Given the description of an element on the screen output the (x, y) to click on. 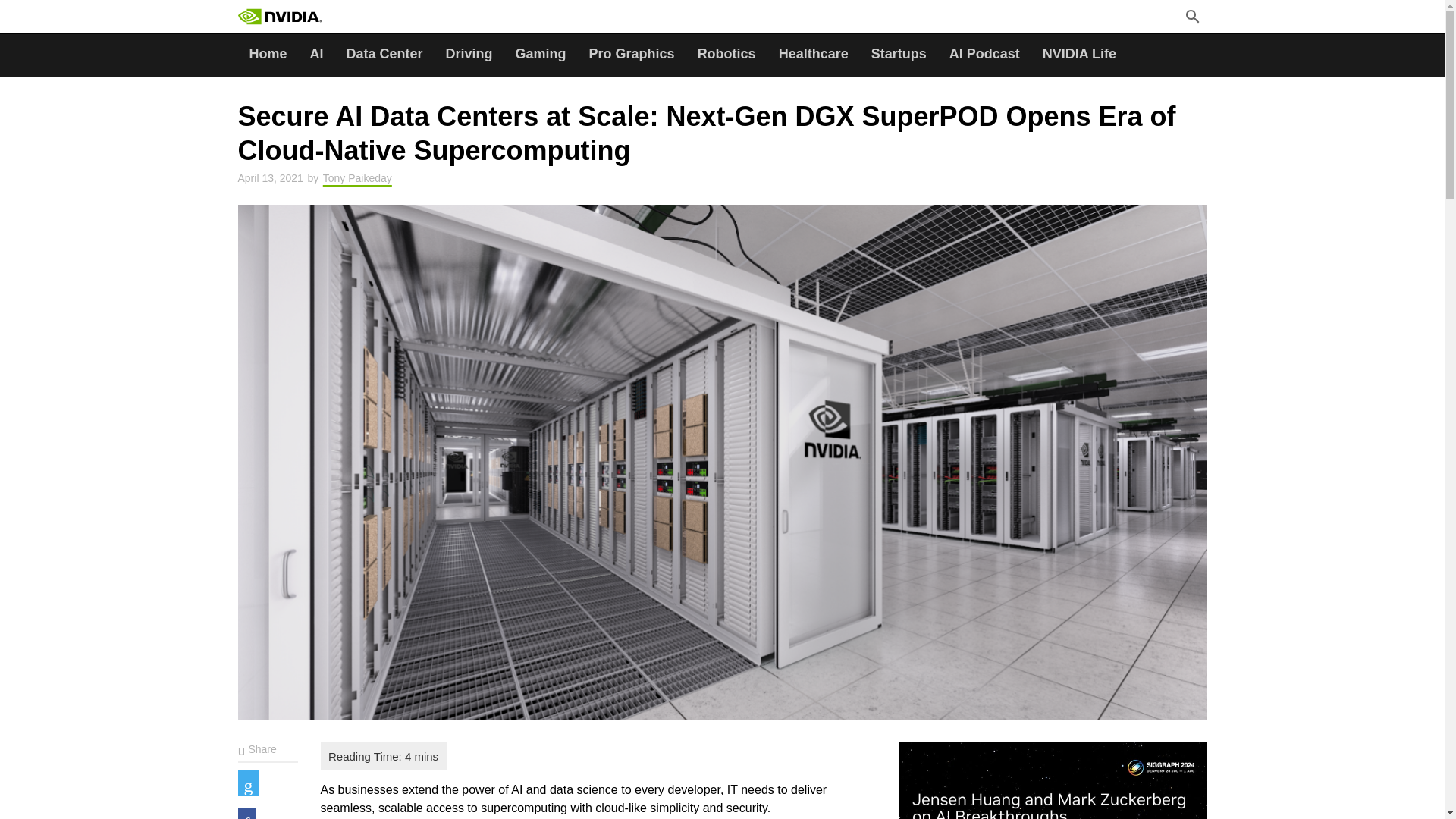
Gaming (540, 55)
Driving (468, 55)
Pro Graphics (631, 55)
Healthcare (813, 55)
AI Podcast (983, 55)
Artificial Intelligence Computing Leadership from NVIDIA (314, 16)
Startups (898, 55)
Home (268, 55)
Tony Paikeday (357, 177)
Search (374, 18)
